Given the description of an element on the screen output the (x, y) to click on. 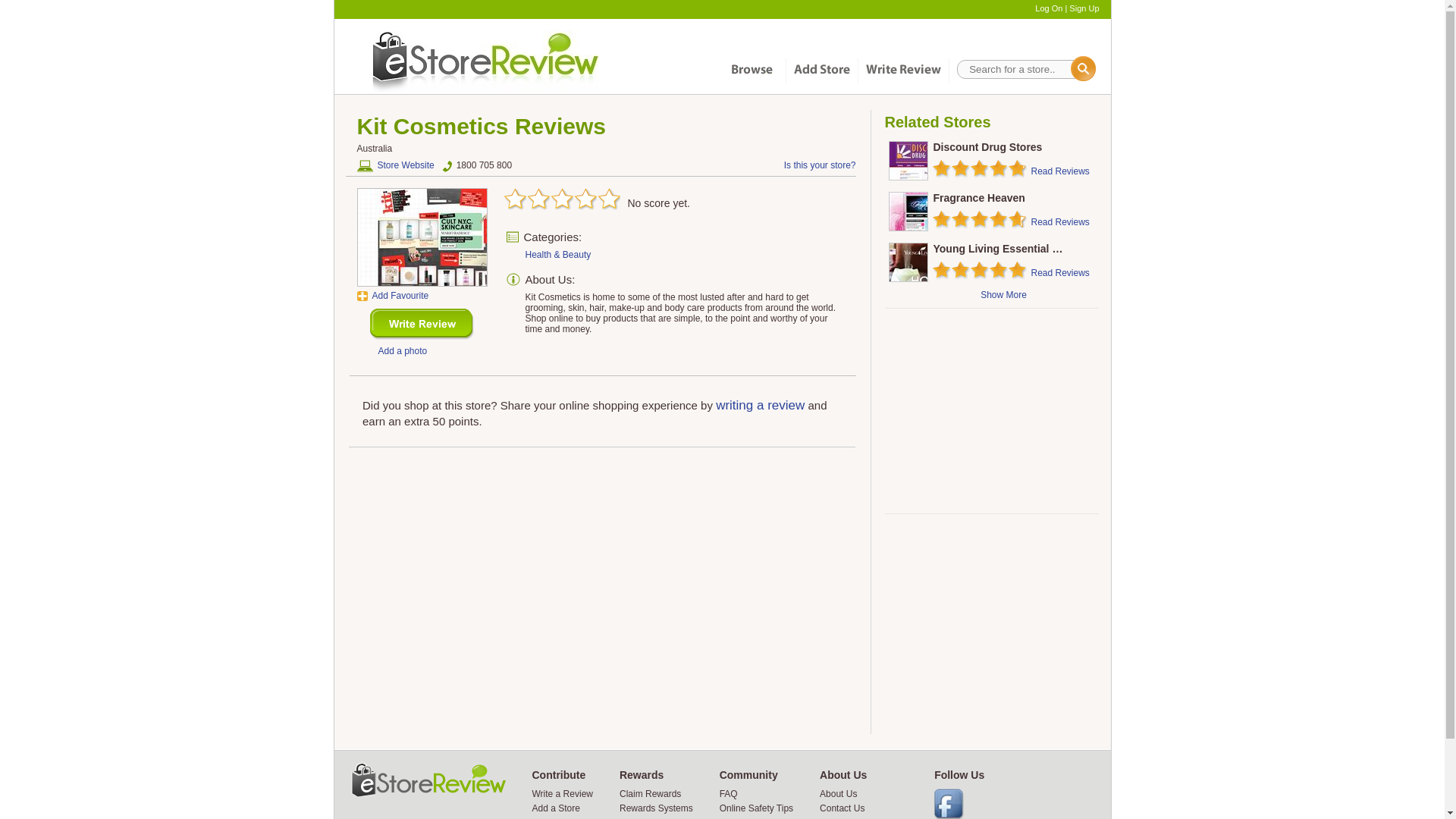
New Review (421, 323)
0 of 5 (595, 200)
Store Website (394, 165)
Add Favourite (392, 295)
Add a photo (401, 350)
